Given the description of an element on the screen output the (x, y) to click on. 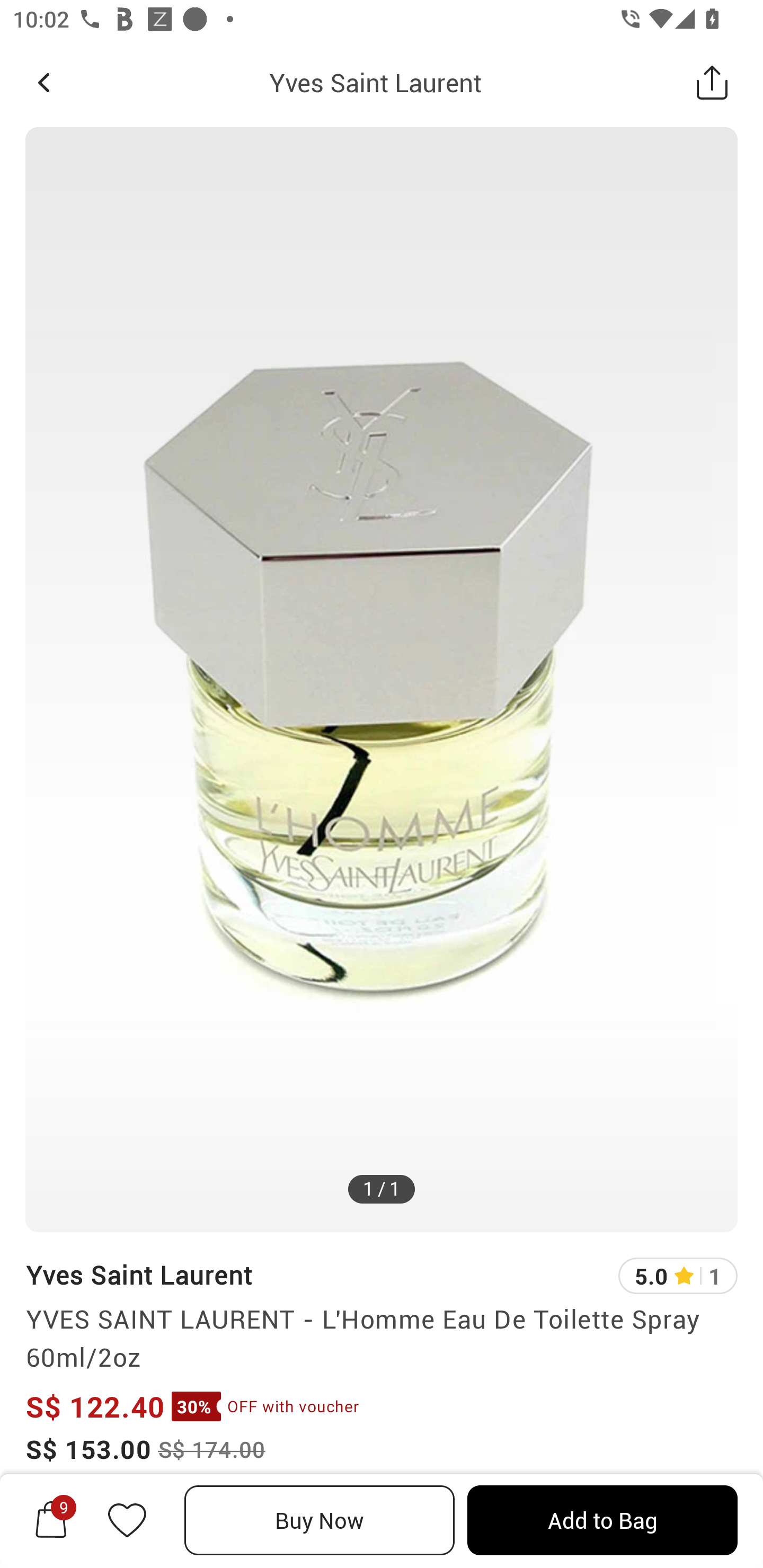
Yves Saint Laurent (375, 82)
Share this Product (711, 82)
Yves Saint Laurent (138, 1274)
5.0 1 (677, 1275)
Buy Now (319, 1519)
Add to Bag (601, 1519)
9 (50, 1520)
